Given the description of an element on the screen output the (x, y) to click on. 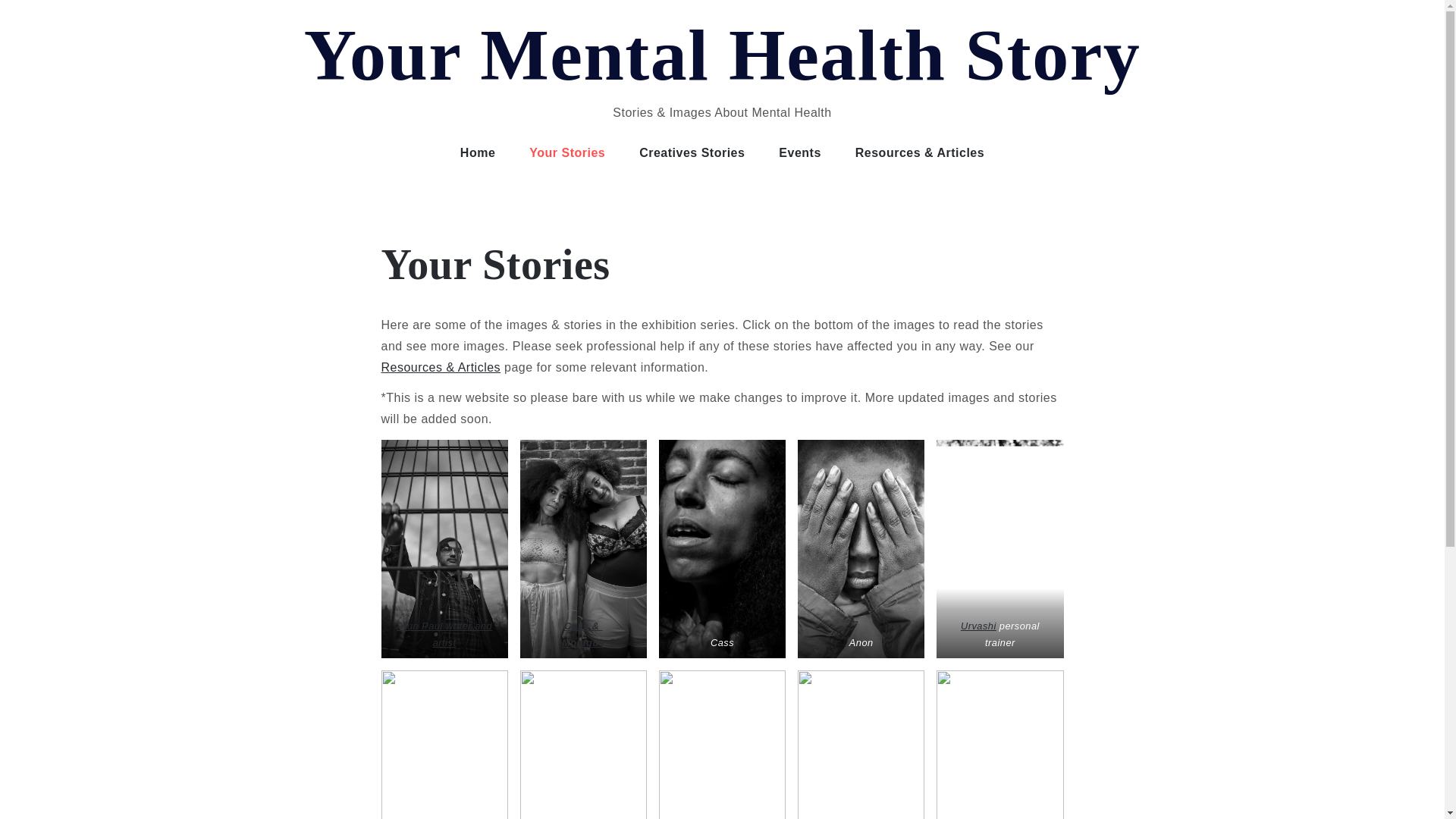
Creatives Stories (692, 152)
Monique (583, 642)
Your Stories (566, 152)
Events (798, 152)
Your Mental Health Story (722, 54)
Urvashi (977, 625)
Home (478, 152)
Arun Paul writer and artist (444, 633)
